Given the description of an element on the screen output the (x, y) to click on. 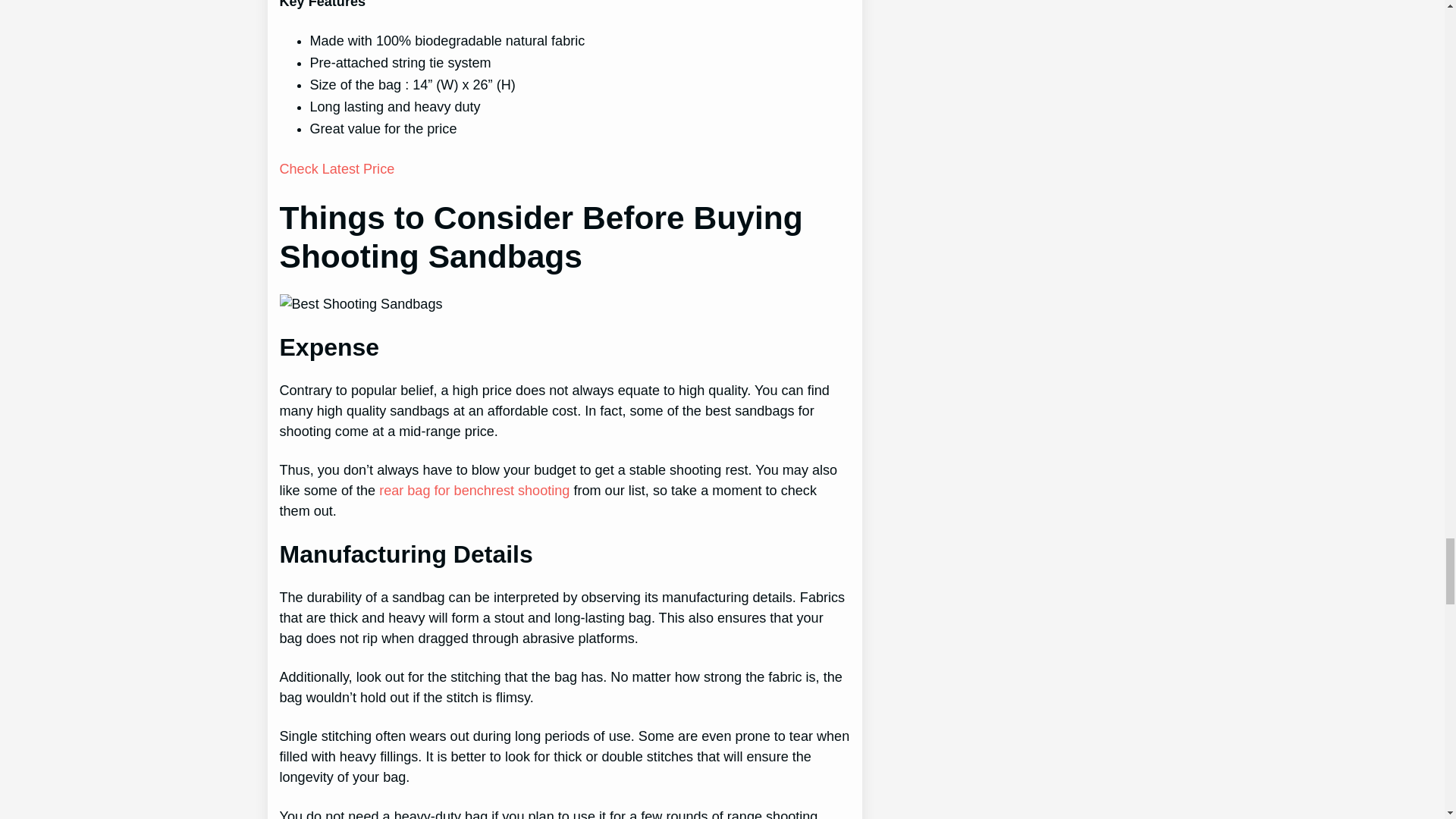
Check Latest Price (336, 168)
rear bag for benchrest shooting (473, 490)
